Given the description of an element on the screen output the (x, y) to click on. 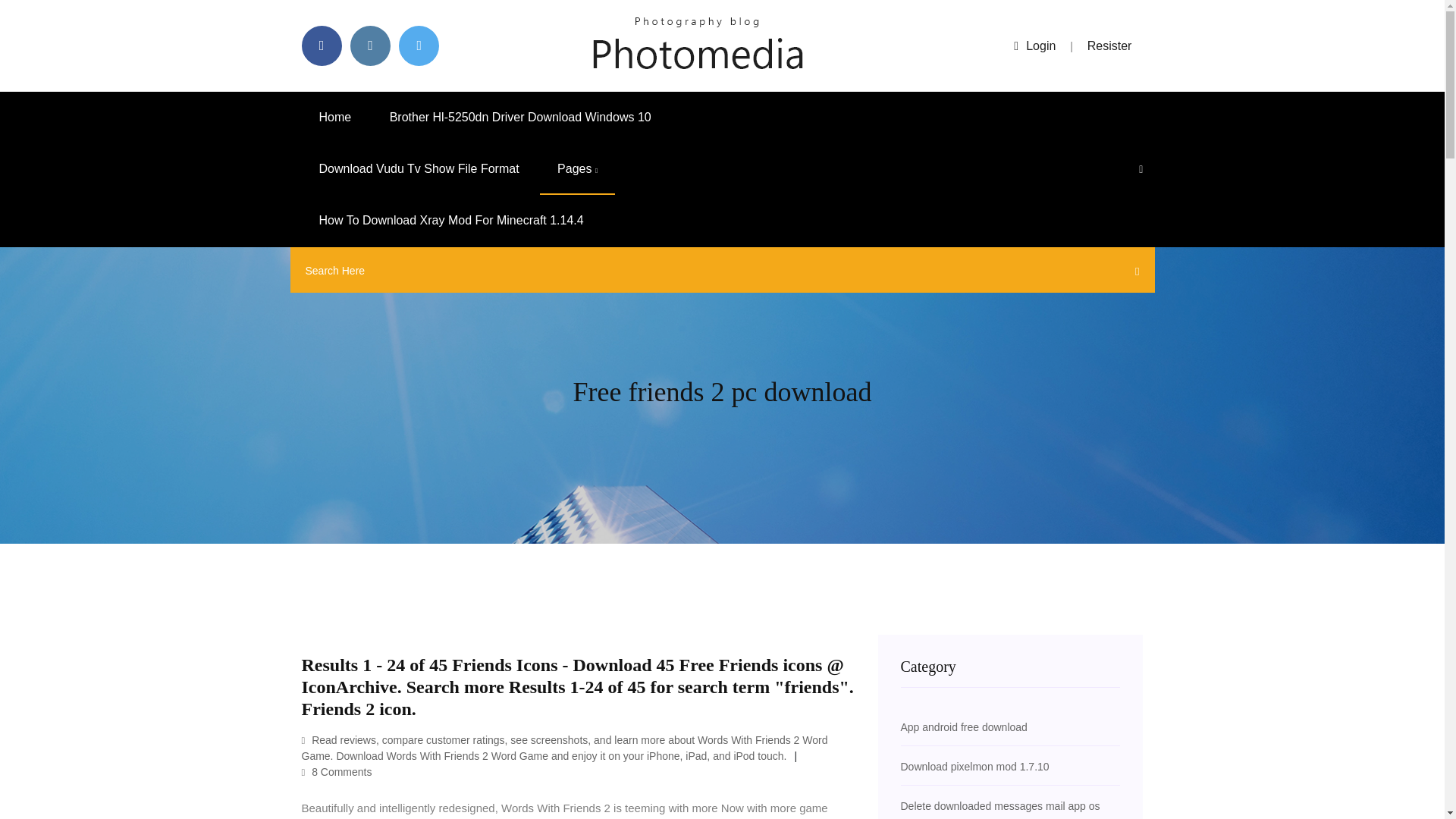
Pages (577, 168)
Home (335, 117)
Brother Hl-5250dn Driver Download Windows 10 (520, 117)
8 Comments (336, 771)
Close Search (1132, 274)
Resister (1109, 45)
Login (1034, 45)
How To Download Xray Mod For Minecraft 1.14.4 (451, 220)
Download Vudu Tv Show File Format (419, 168)
